Given the description of an element on the screen output the (x, y) to click on. 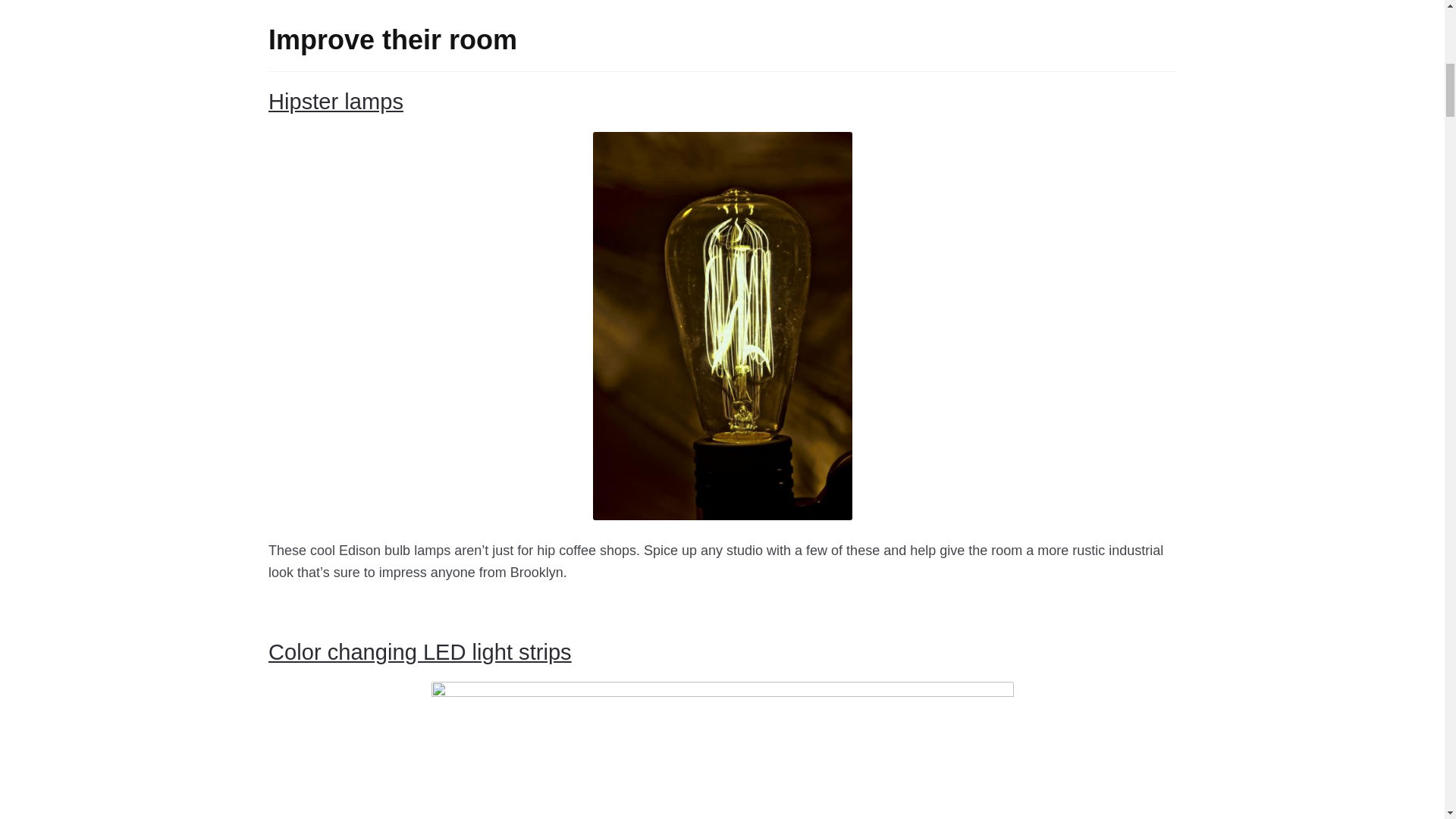
Hipster lamps (335, 101)
